Given the description of an element on the screen output the (x, y) to click on. 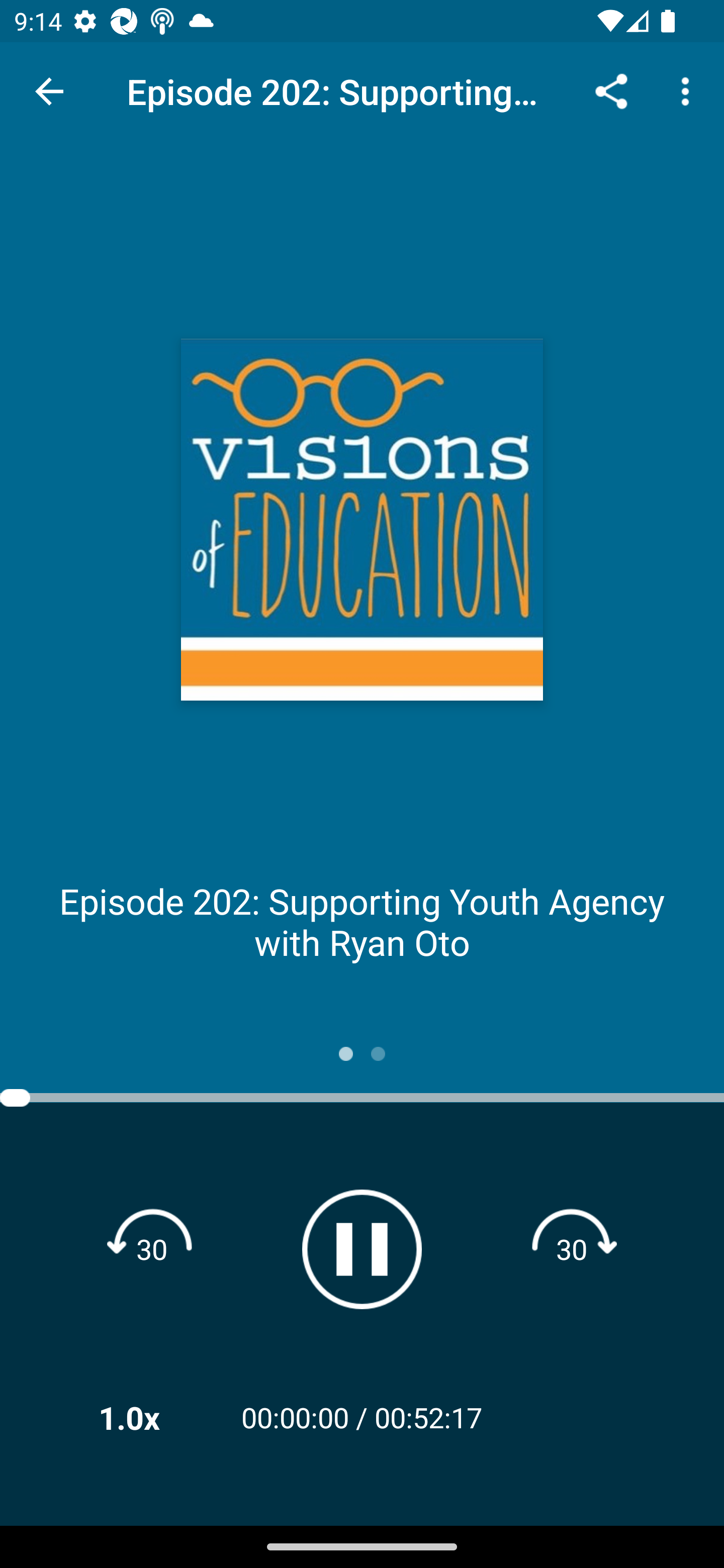
Navigate up (49, 91)
Share... (611, 90)
More options (688, 90)
Pause (361, 1249)
Rewind (151, 1248)
Fast forward (571, 1248)
1.0x Playback Speeds (154, 1417)
00:52:17 (428, 1417)
